Given the description of an element on the screen output the (x, y) to click on. 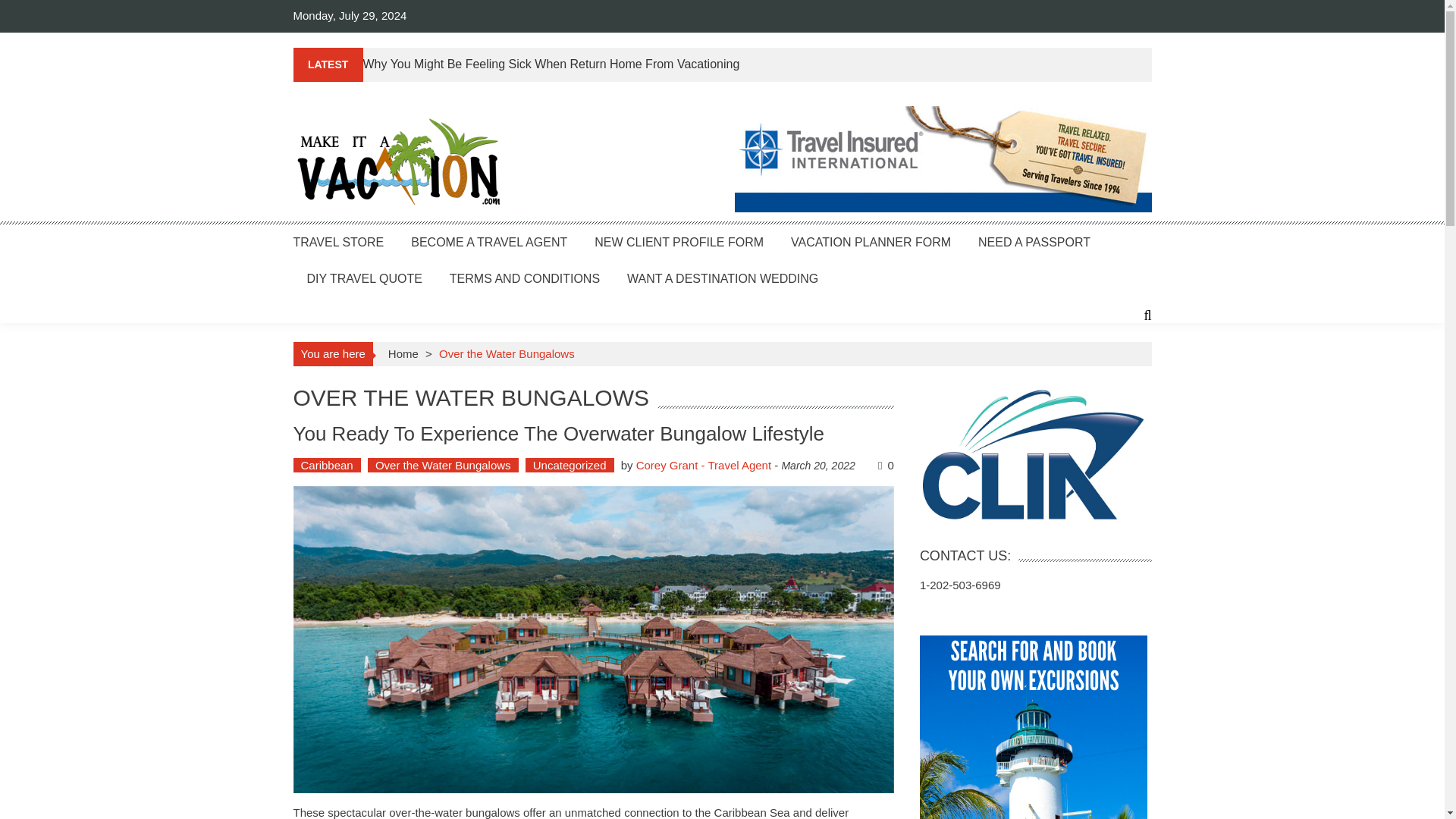
TERMS AND CONDITIONS (524, 277)
NEW CLIENT PROFILE FORM (678, 241)
Corey Grant - Travel Agent (703, 464)
BECOME A TRAVEL AGENT (488, 241)
VACATION PLANNER FORM (870, 241)
Over the Water Bungalows (443, 464)
WANT A DESTINATION WEDDING (722, 277)
You Ready To Experience The Overwater Bungalow Lifestyle (558, 433)
TRAVEL STORE (338, 241)
Caribbean (325, 464)
DIY TRAVEL QUOTE (363, 277)
NEED A PASSPORT (1034, 241)
Uncategorized (569, 464)
